Given the description of an element on the screen output the (x, y) to click on. 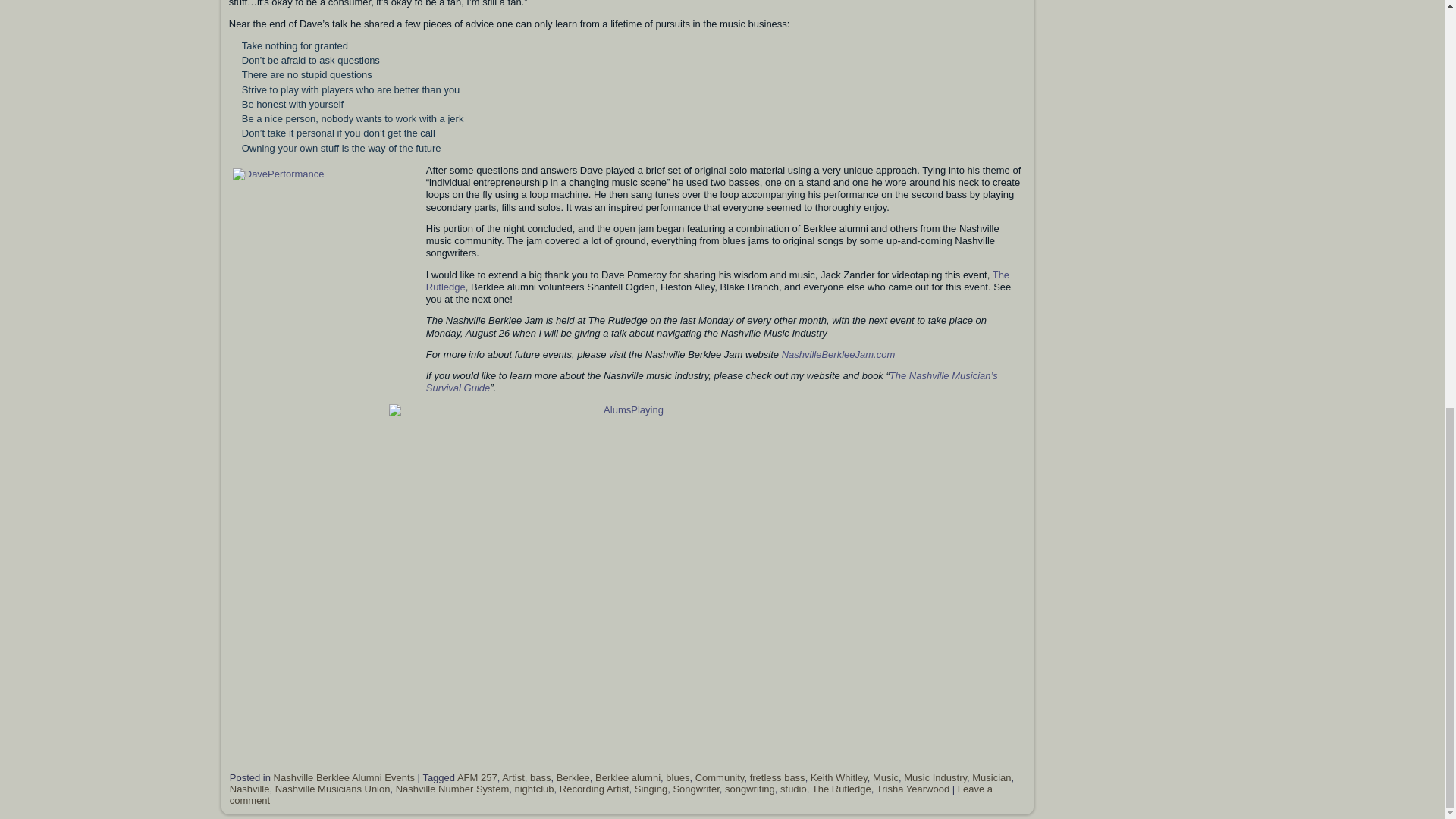
Nashville (249, 788)
songwriting (749, 788)
Nashville Musicians Union (332, 788)
Artist (513, 776)
studio (793, 788)
Music Industry (935, 776)
NashvilleBerkleeJam.com (838, 354)
Musician (991, 776)
The Rutledge (717, 280)
Songwriter (695, 788)
